Given the description of an element on the screen output the (x, y) to click on. 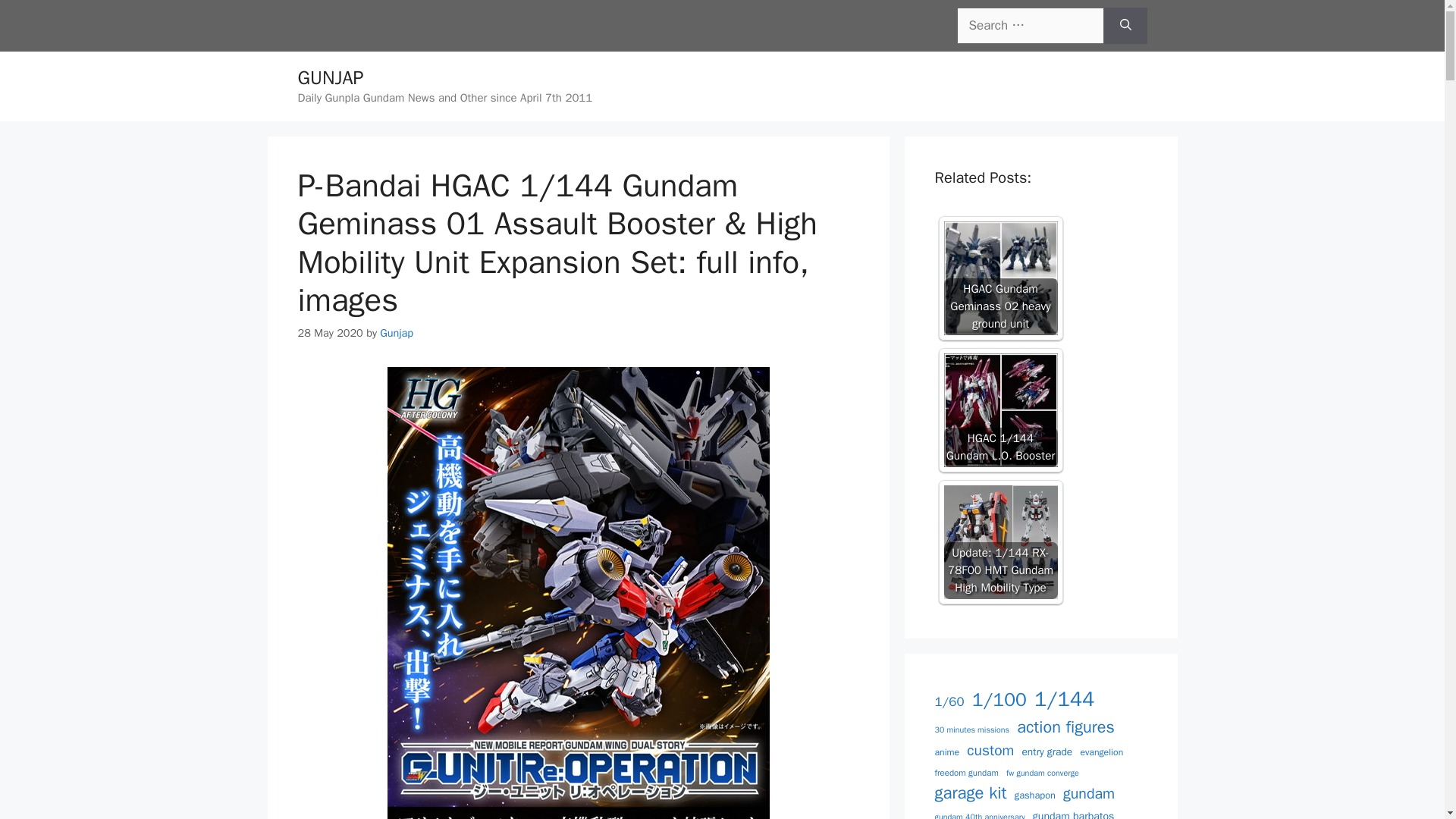
GUNJAP (329, 76)
Search for: (1029, 25)
action figures (1065, 727)
Gunjap (396, 332)
freedom gundam (965, 771)
30 minutes missions (971, 729)
anime (946, 752)
HGAC Gundam Geminass 02 heavy ground unit (1000, 277)
entry grade (1046, 752)
custom (989, 751)
evangelion (1101, 752)
View all posts by Gunjap (396, 332)
HGAC Gundam Geminass 02 heavy ground unit (1000, 277)
